Given the description of an element on the screen output the (x, y) to click on. 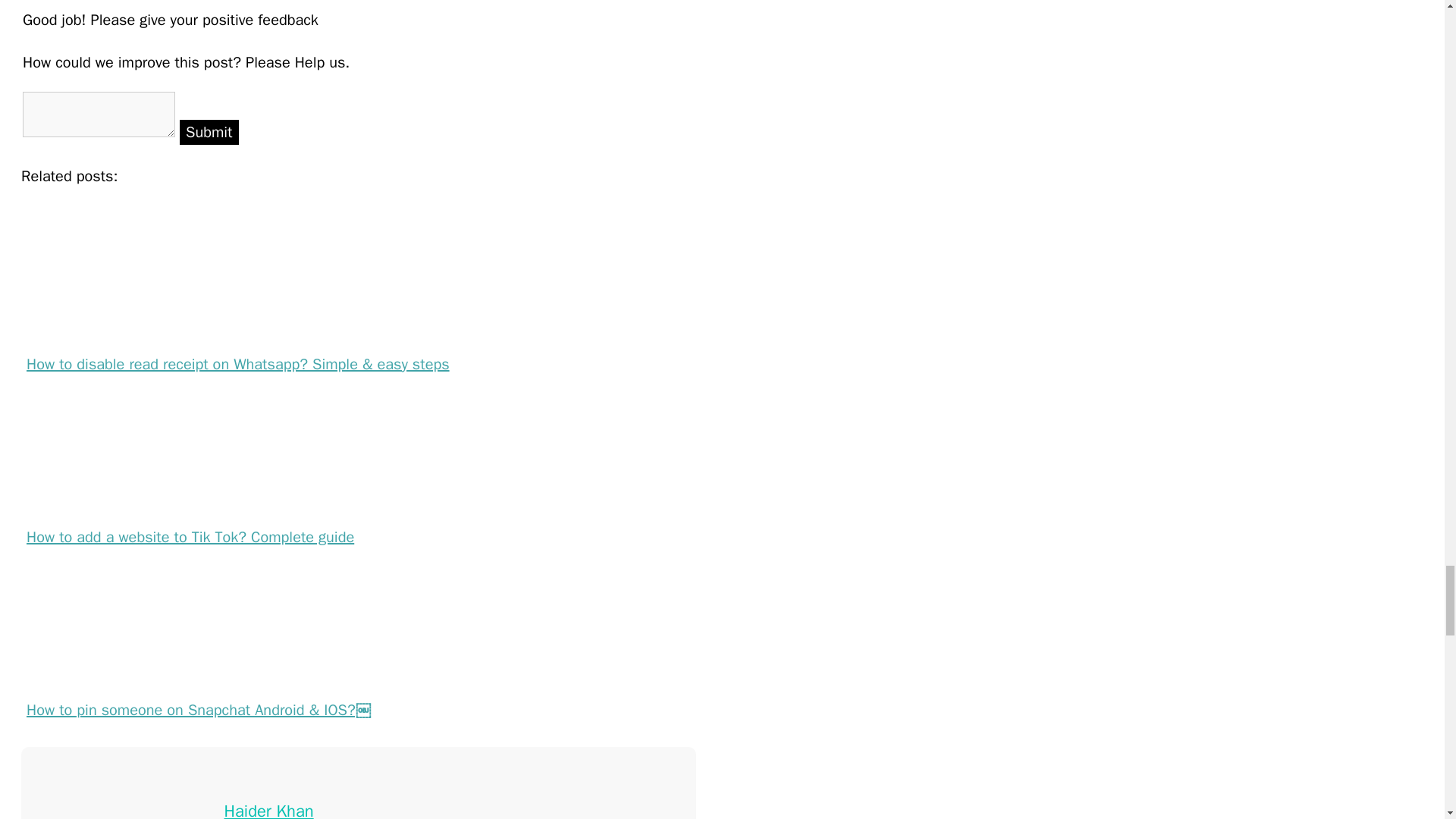
How to add a website to Tik Tok? Complete guide (366, 523)
